Given the description of an element on the screen output the (x, y) to click on. 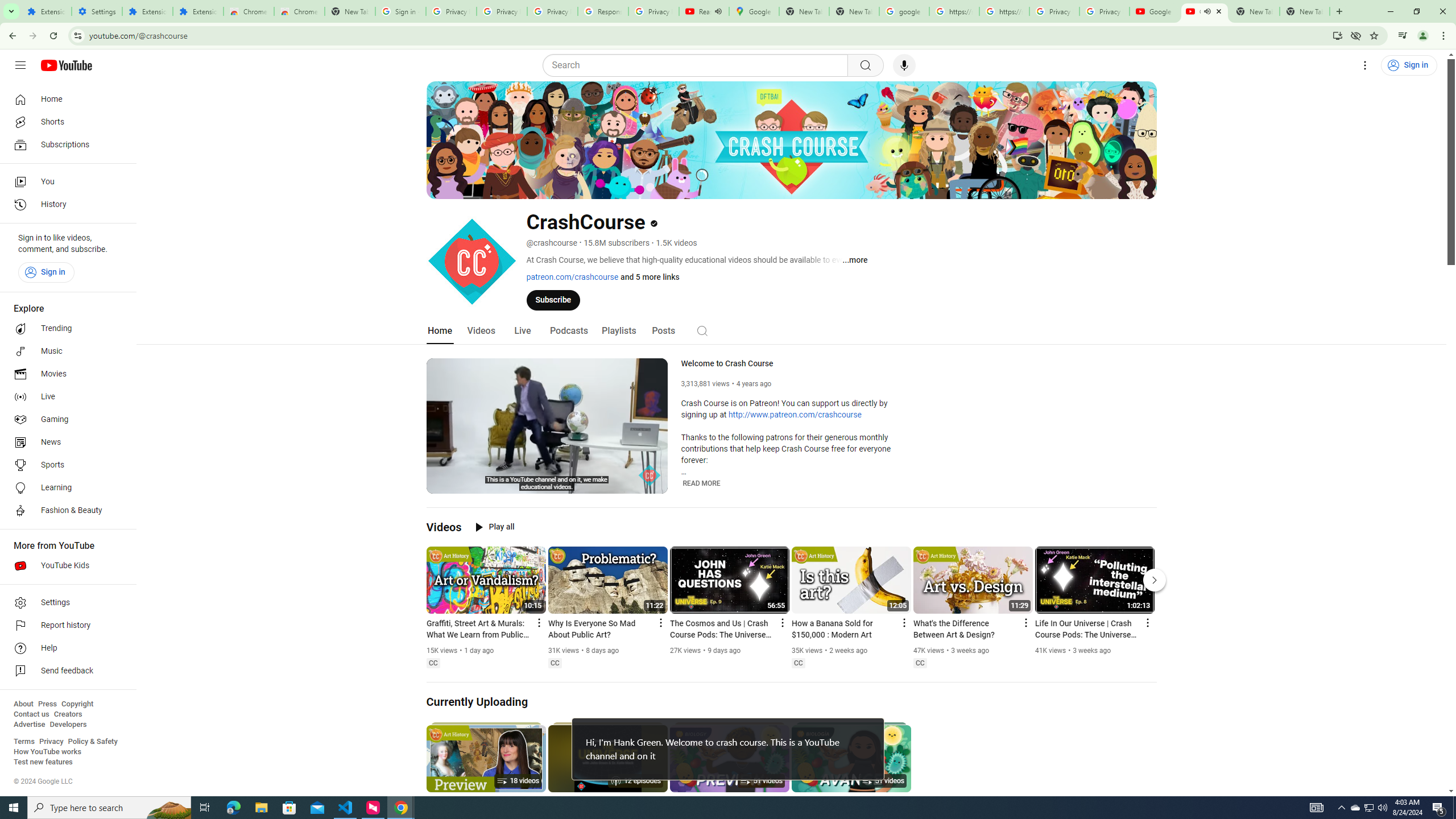
How YouTube works (47, 751)
Closed captions (919, 662)
Contact us (31, 714)
YouTube Kids (64, 565)
Test new features (42, 761)
Chrome Web Store - Themes (299, 11)
Live (64, 396)
About (23, 703)
Gaming (64, 419)
